Given the description of an element on the screen output the (x, y) to click on. 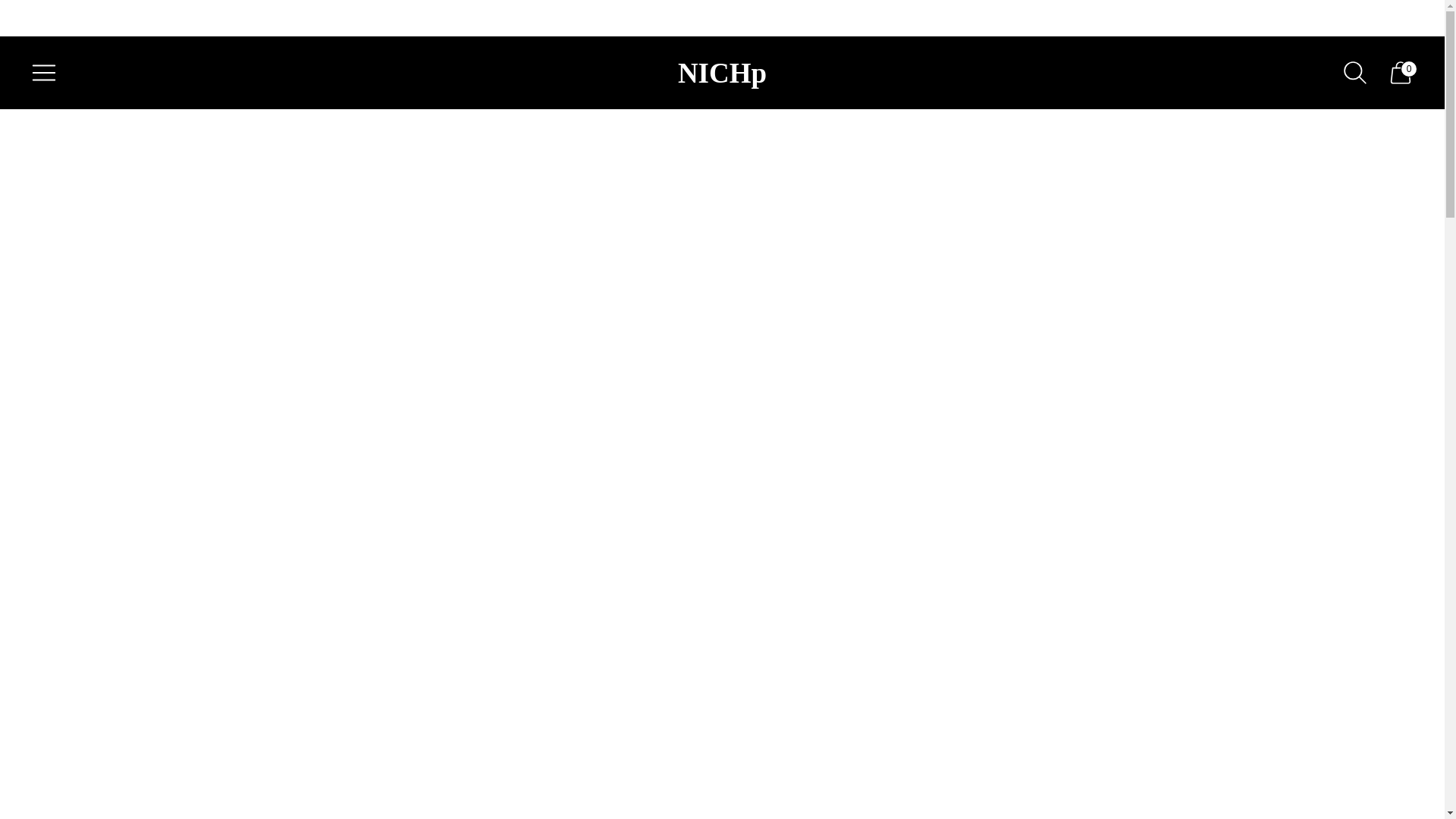
0 (1400, 72)
NICHp (722, 72)
